Given the description of an element on the screen output the (x, y) to click on. 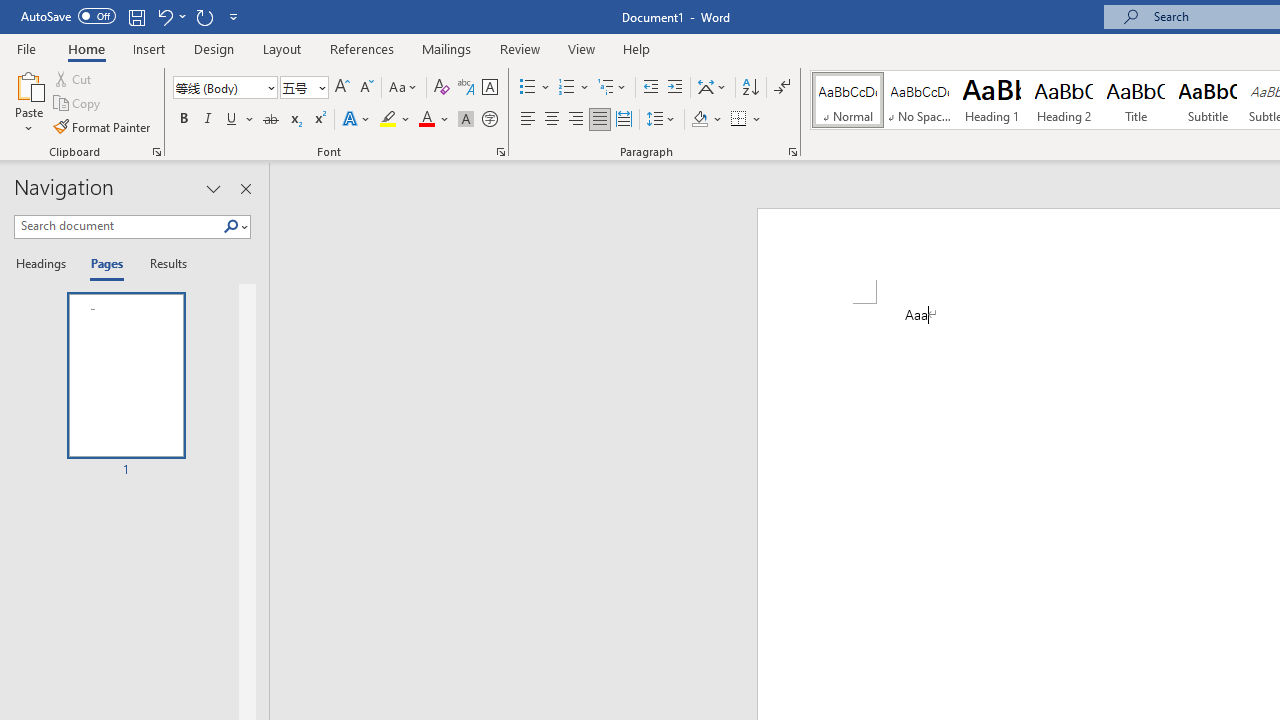
Decrease Indent (650, 87)
Task Pane Options (214, 188)
Character Border (489, 87)
Quick Access Toolbar (131, 16)
Mailings (447, 48)
Title (1135, 100)
Phonetic Guide... (465, 87)
File Tab (26, 48)
Superscript (319, 119)
Design (214, 48)
